Given the description of an element on the screen output the (x, y) to click on. 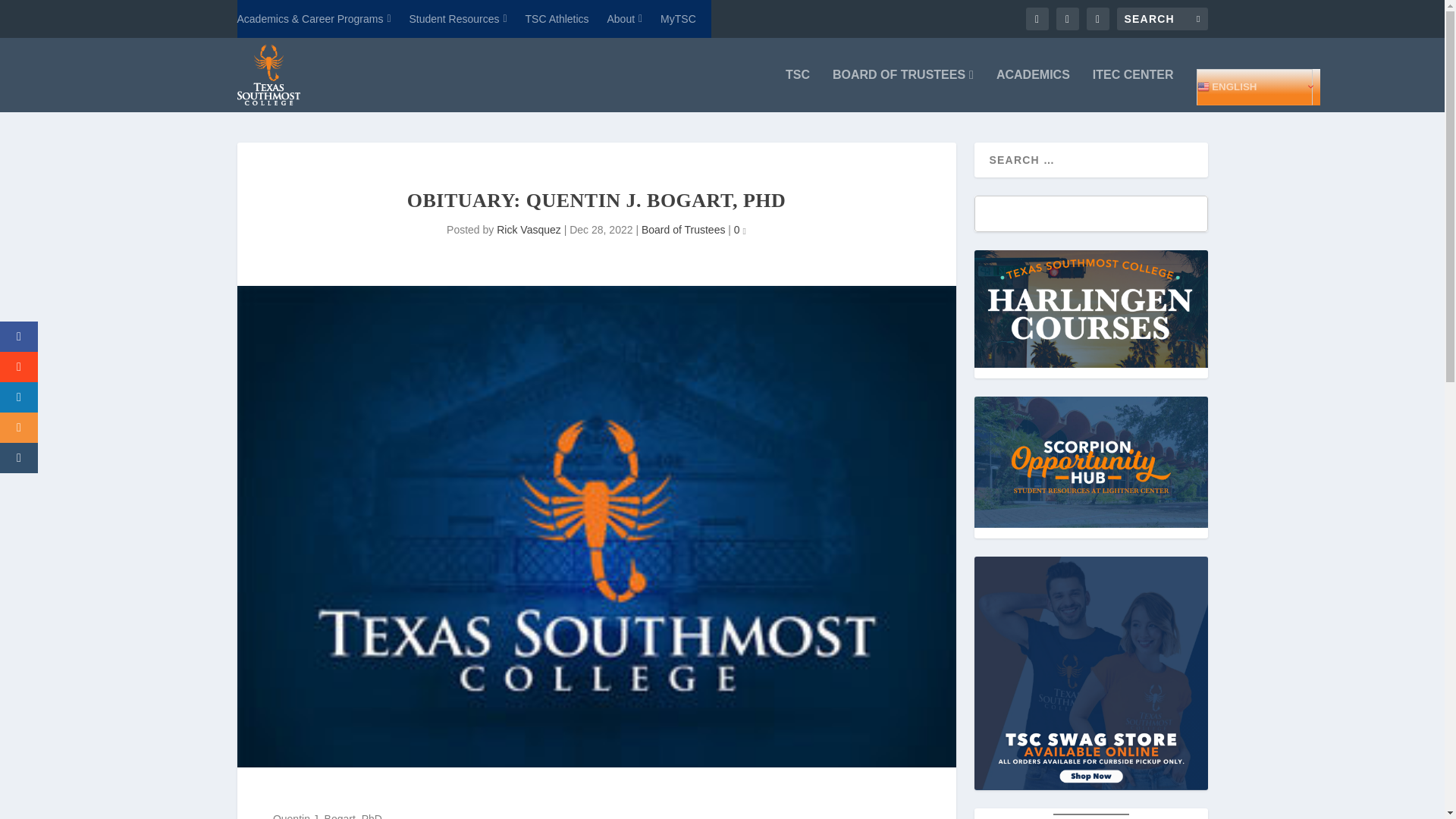
Student Resources (457, 18)
Posts by Rick Vasquez (528, 229)
TSC Athletics (557, 18)
Search for: (1161, 18)
About (624, 18)
MyTSC (678, 18)
Texas Southmost Ollege (801, 814)
